Given the description of an element on the screen output the (x, y) to click on. 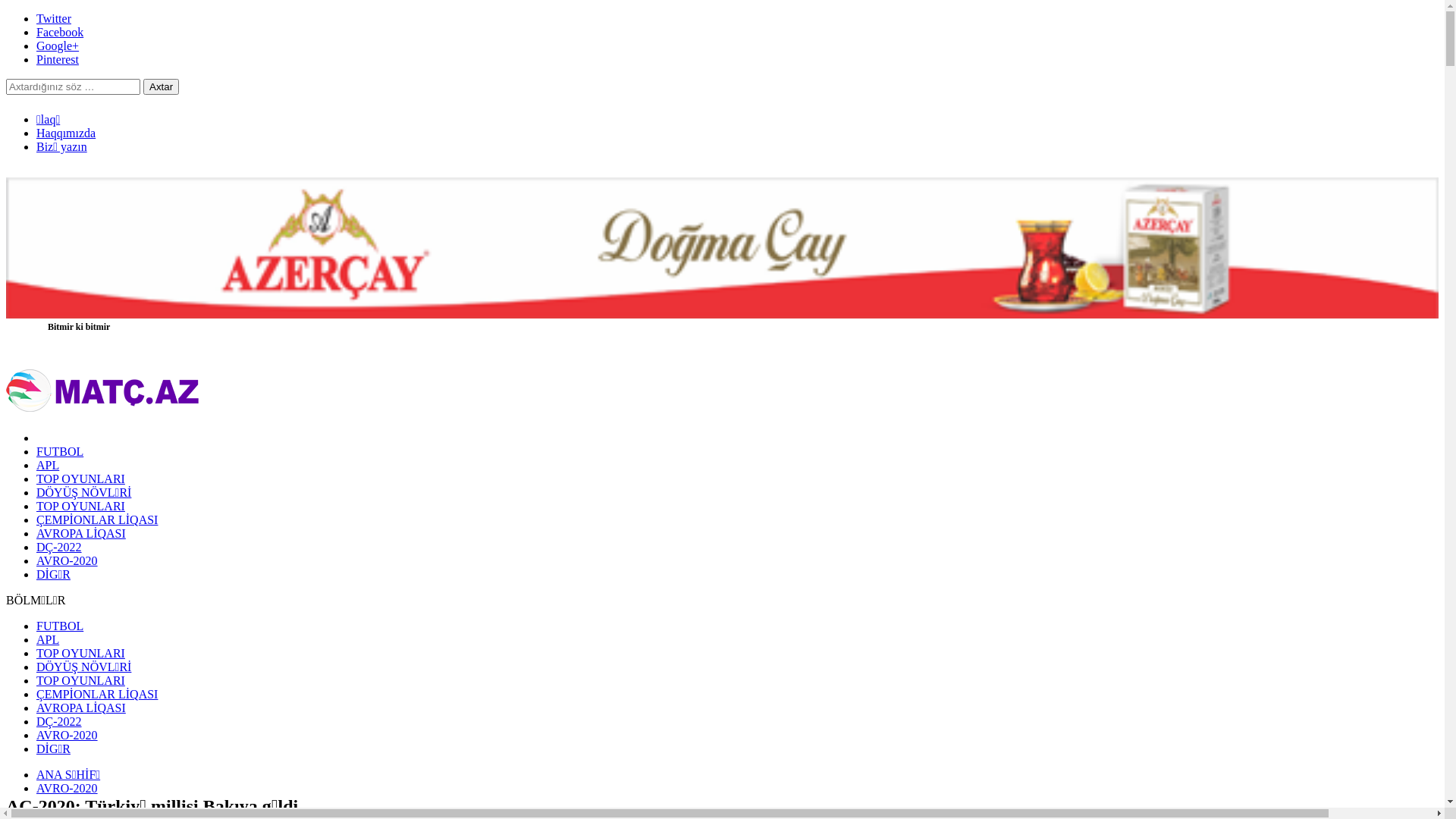
AVRO-2020 Element type: text (66, 560)
APL Element type: text (47, 639)
Axtar Element type: text (160, 86)
Pinterest Element type: text (57, 59)
Twitter Element type: text (53, 18)
TOP OYUNLARI Element type: text (80, 478)
Google+ Element type: text (57, 45)
APL Element type: text (47, 464)
FUTBOL Element type: text (59, 451)
FUTBOL Element type: text (59, 625)
AVRO-2020 Element type: text (66, 734)
TOP OYUNLARI Element type: text (80, 652)
AVRO-2020 Element type: text (66, 787)
TOP OYUNLARI Element type: text (80, 505)
Facebook Element type: text (59, 31)
TOP OYUNLARI Element type: text (80, 680)
